Given the description of an element on the screen output the (x, y) to click on. 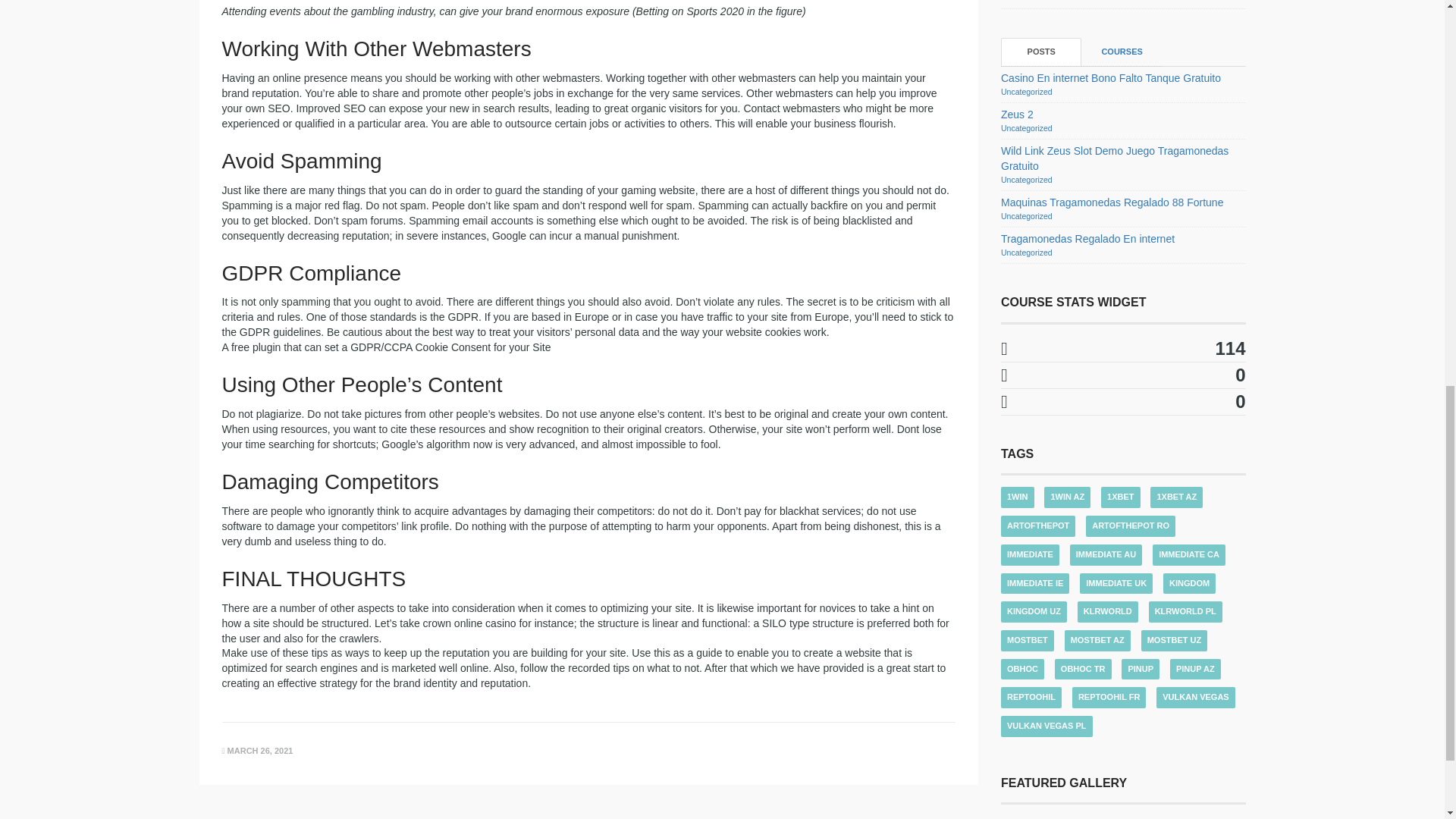
Zeus 2 (1017, 114)
Tragamonedas Regalado En internet (1087, 238)
Casino En internet Bono Falto Tanque Gratuito (1111, 78)
Wild Link Zeus Slot Demo Juego Tragamonedas Gratuito (1114, 157)
COURSES (1121, 51)
Maquinas Tragamonedas Regalado 88 Fortune (1112, 202)
POSTS (1041, 51)
